Given the description of an element on the screen output the (x, y) to click on. 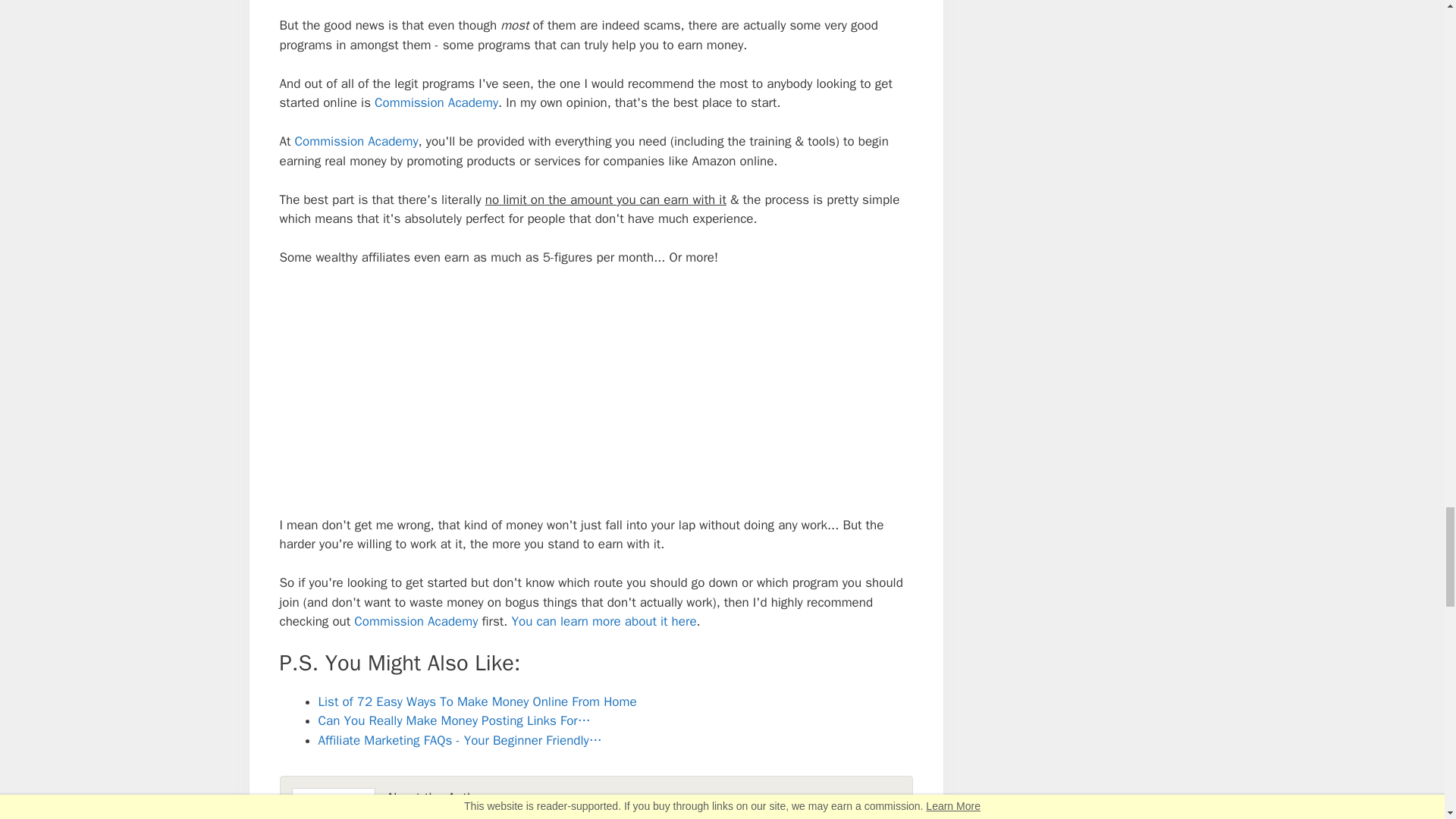
Commission Academy (435, 102)
Living More Working Less (710, 816)
Commission Academy (357, 141)
Commission Academy (415, 621)
You can learn more about it here (603, 621)
List of 72 Easy Ways To Make Money Online From Home (477, 701)
